Given the description of an element on the screen output the (x, y) to click on. 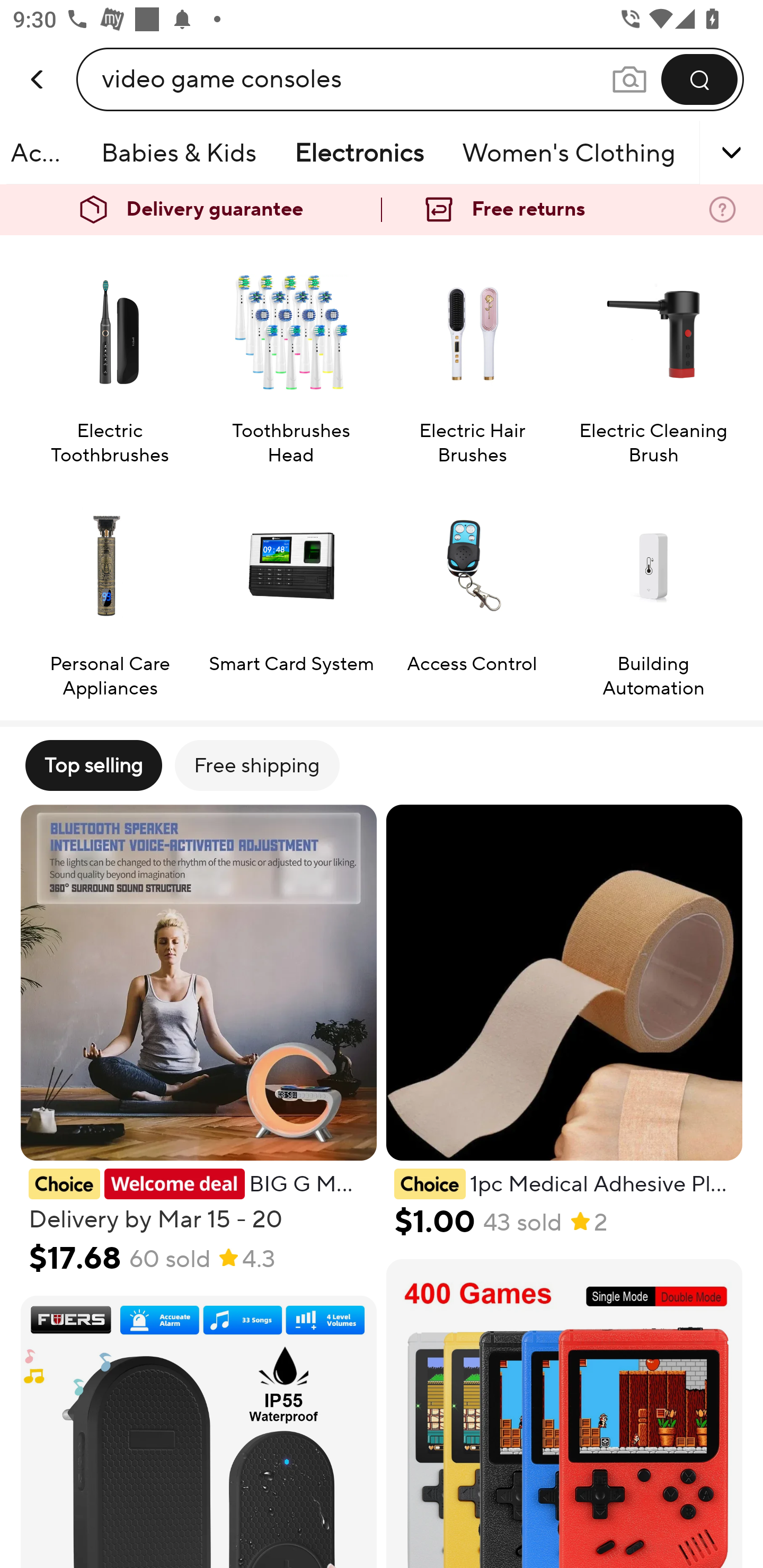
back  (38, 59)
video game consoles Search query (355, 79)
Jewelry, Watches & Accessories (44, 152)
Babies & Kids (178, 152)
Women's Clothing (569, 152)
 (705, 152)
Delivery guarantee Free returns (381, 210)
Electric Toothbrushes (109, 357)
Toothbrushes Head (290, 357)
Electric Hair Brushes (471, 357)
Electric Cleaning Brush (653, 357)
Personal Care Appliances (109, 590)
Smart Card System (290, 590)
Access Control (471, 590)
Building Automation (653, 590)
Top selling (93, 765)
Free shipping (256, 765)
